Given the description of an element on the screen output the (x, y) to click on. 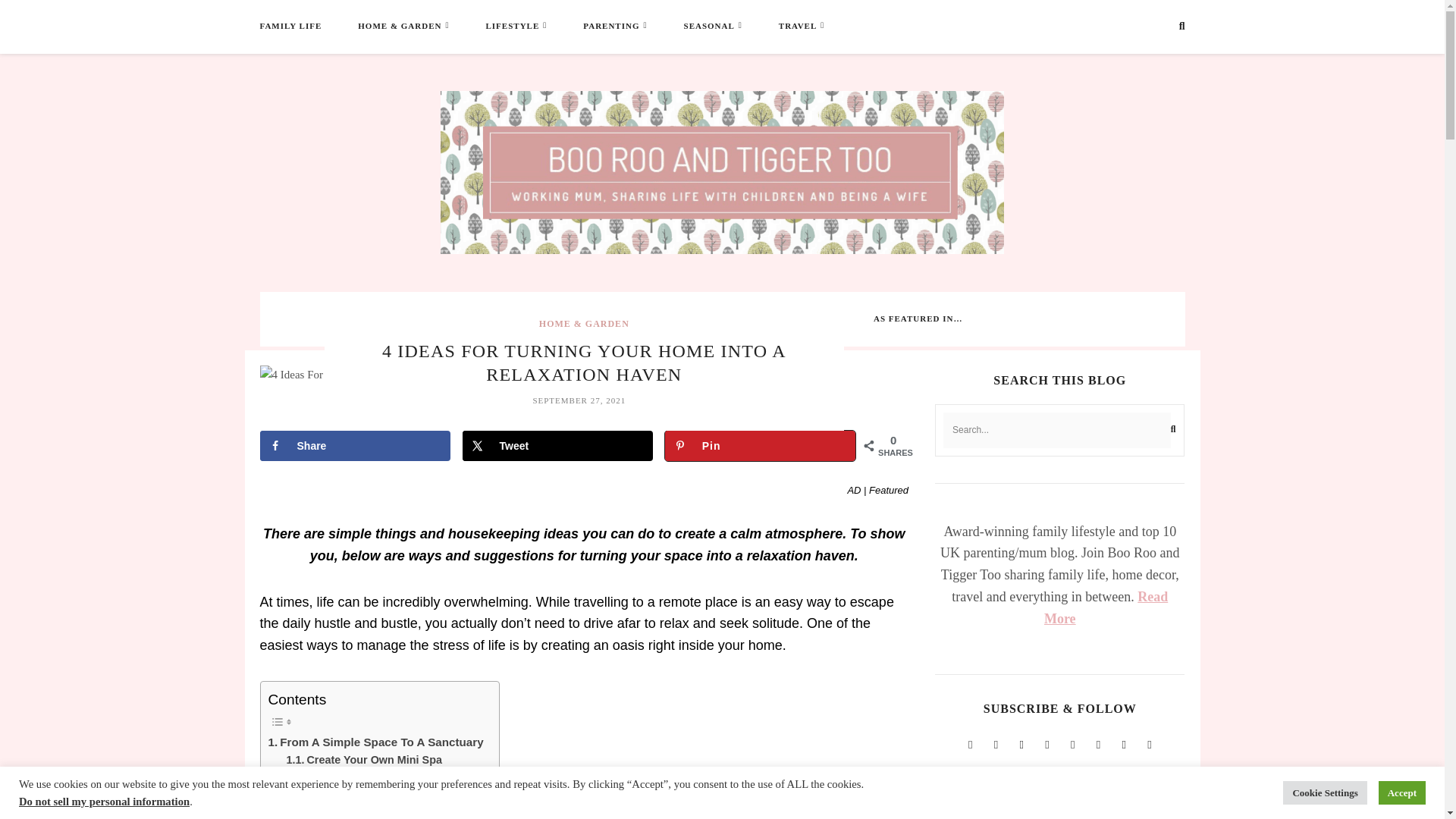
From A Simple Space To A Sanctuary (375, 742)
Share on X (557, 445)
Save to Pinterest (760, 445)
Share on Facebook (354, 445)
Grow Plants (328, 811)
Create Your Own Mini Spa (364, 760)
Install Lighting Fixtures (357, 794)
Eliminate The Clutter (351, 777)
